Given the description of an element on the screen output the (x, y) to click on. 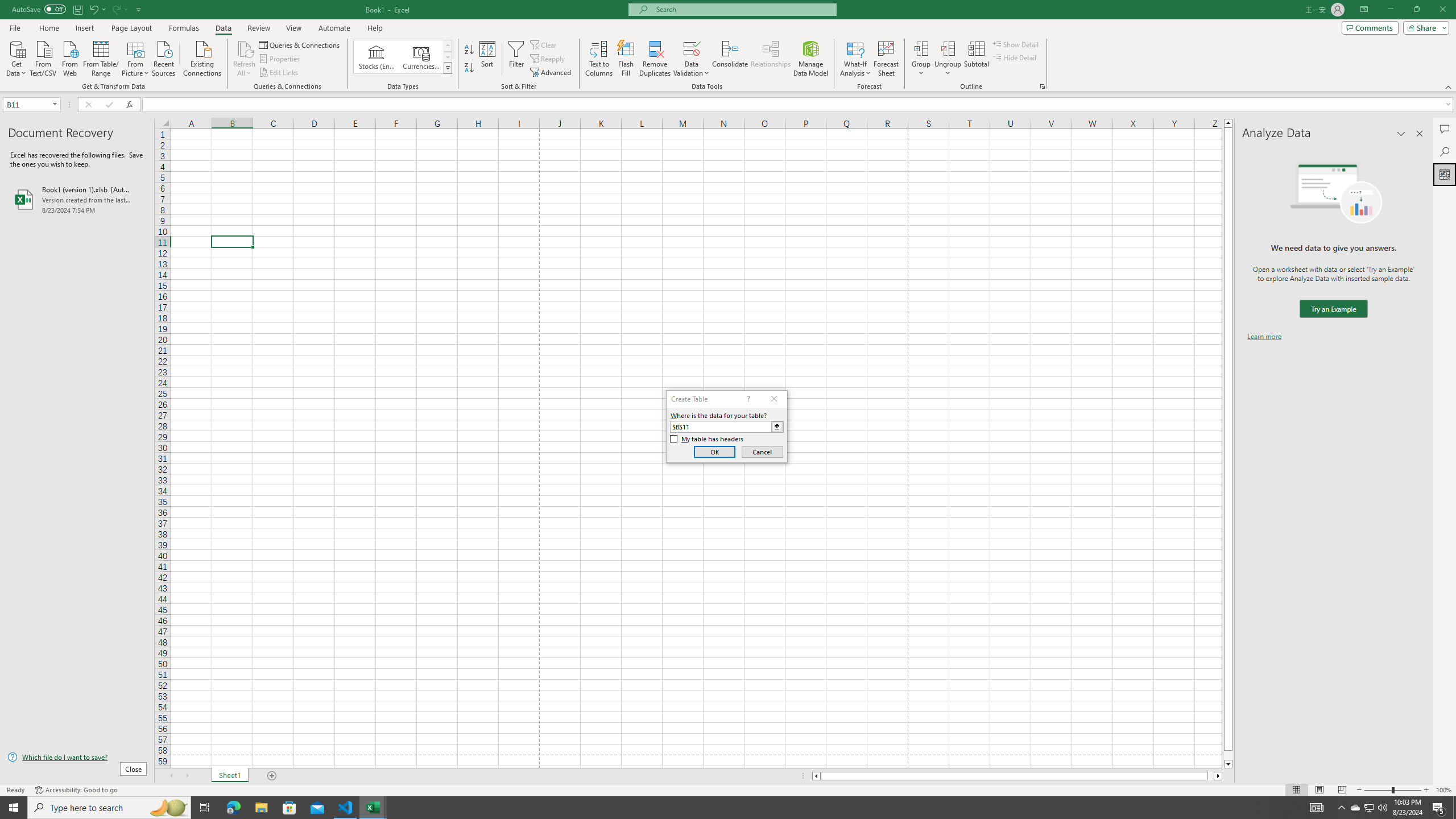
Remove Duplicates (654, 58)
Learn more (1264, 336)
From Text/CSV (43, 57)
Formula Bar (799, 104)
Help (374, 28)
Scroll Right (187, 775)
Minimize (1390, 9)
Group and Outline Settings (1042, 85)
Get Data (16, 57)
Add Sheet (272, 775)
Text to Columns... (598, 58)
Currencies (English) (420, 56)
